Given the description of an element on the screen output the (x, y) to click on. 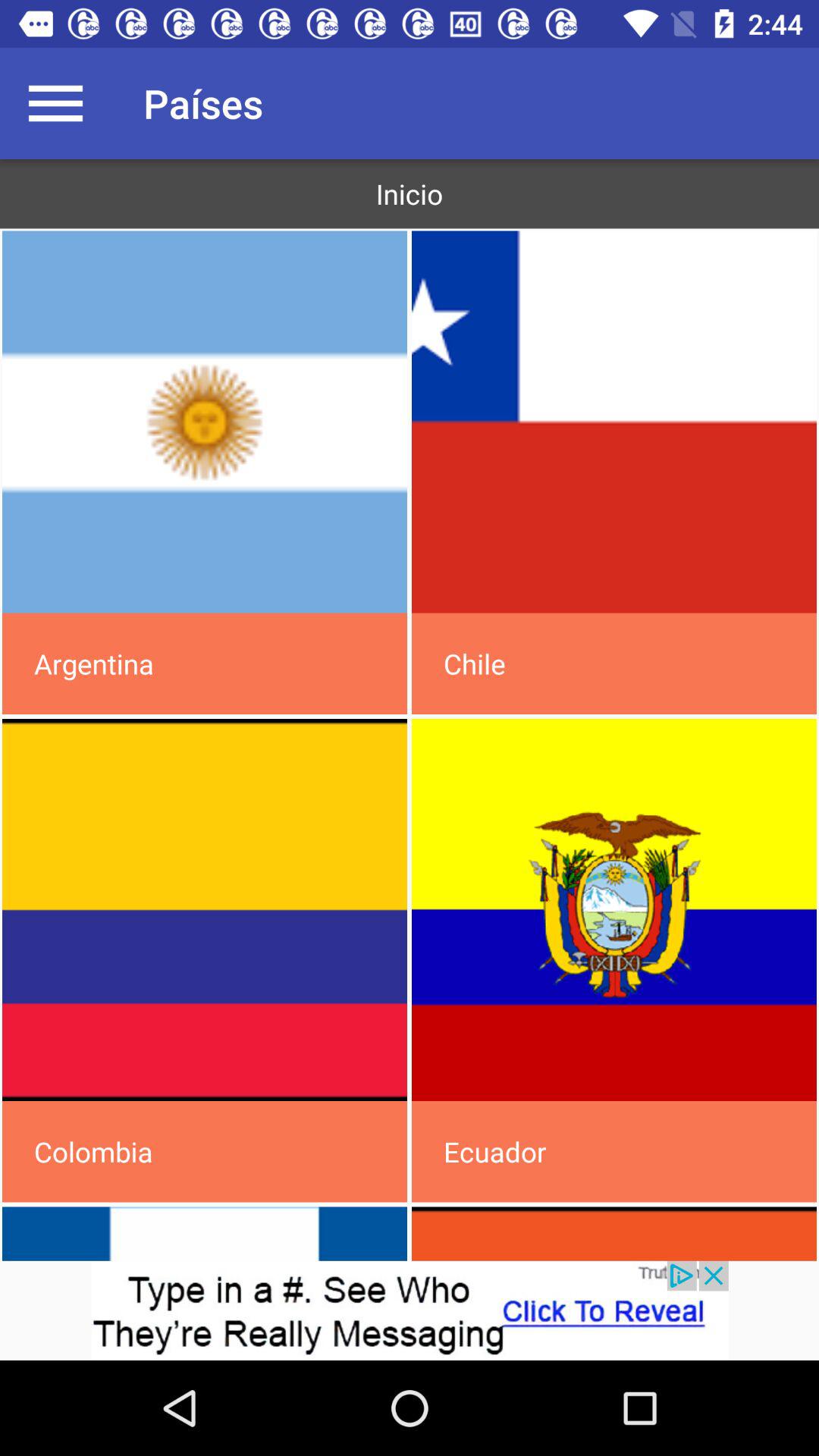
flag (613, 909)
